Given the description of an element on the screen output the (x, y) to click on. 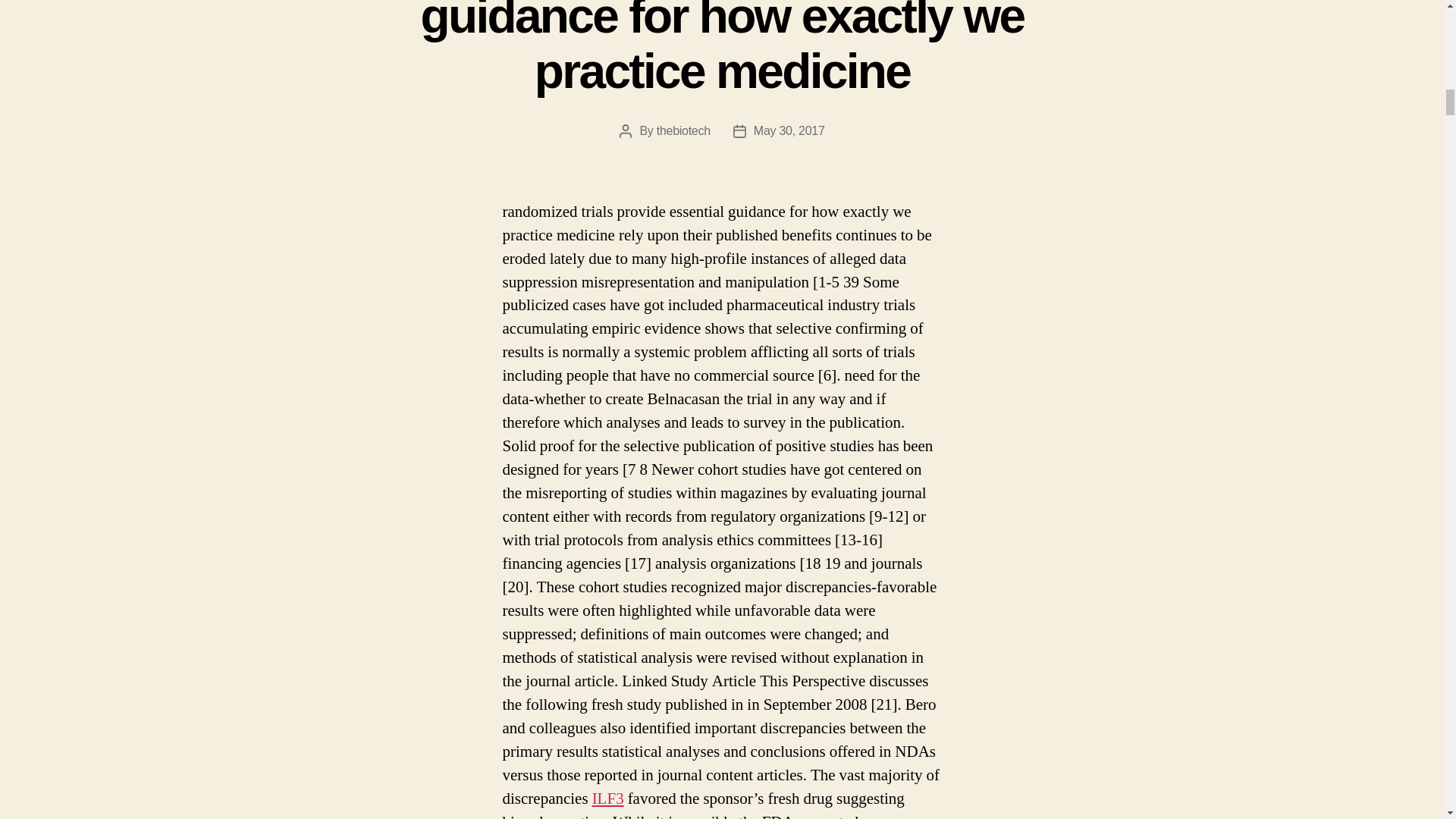
ILF3 (608, 798)
thebiotech (683, 130)
May 30, 2017 (789, 130)
